Given the description of an element on the screen output the (x, y) to click on. 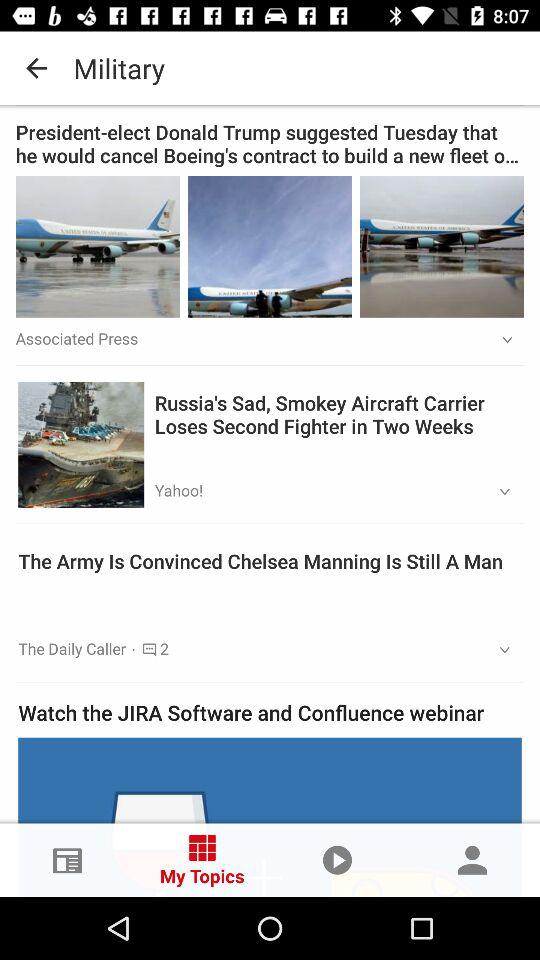
tap the app below watch the jira (269, 816)
